Given the description of an element on the screen output the (x, y) to click on. 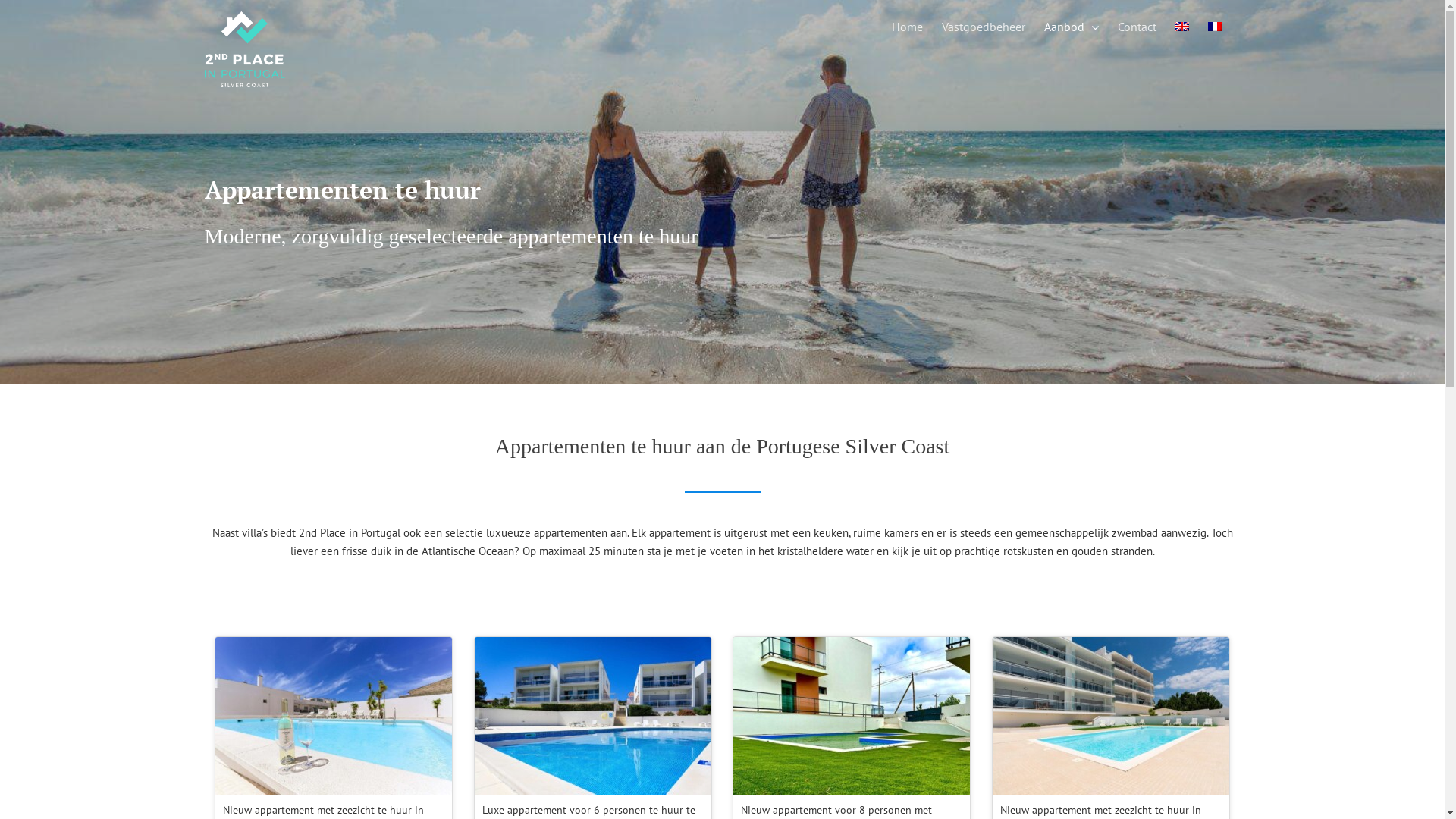
Vastgoedbeheer Element type: text (983, 26)
Aanbod Element type: text (1070, 26)
Home Element type: text (906, 26)
Contact Element type: text (1136, 26)
